Given the description of an element on the screen output the (x, y) to click on. 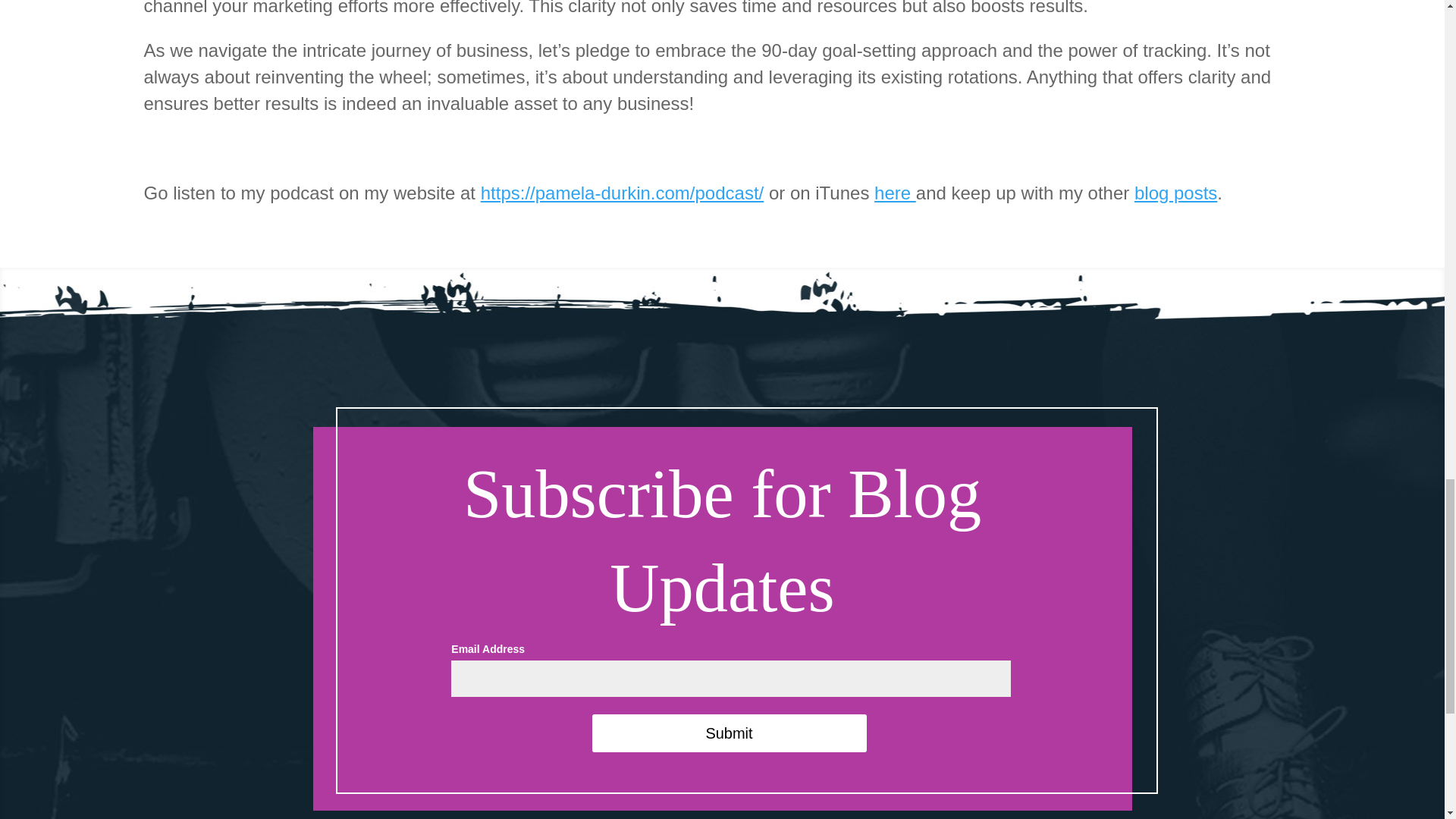
blog posts (1175, 192)
Submit (728, 733)
here (895, 192)
